Given the description of an element on the screen output the (x, y) to click on. 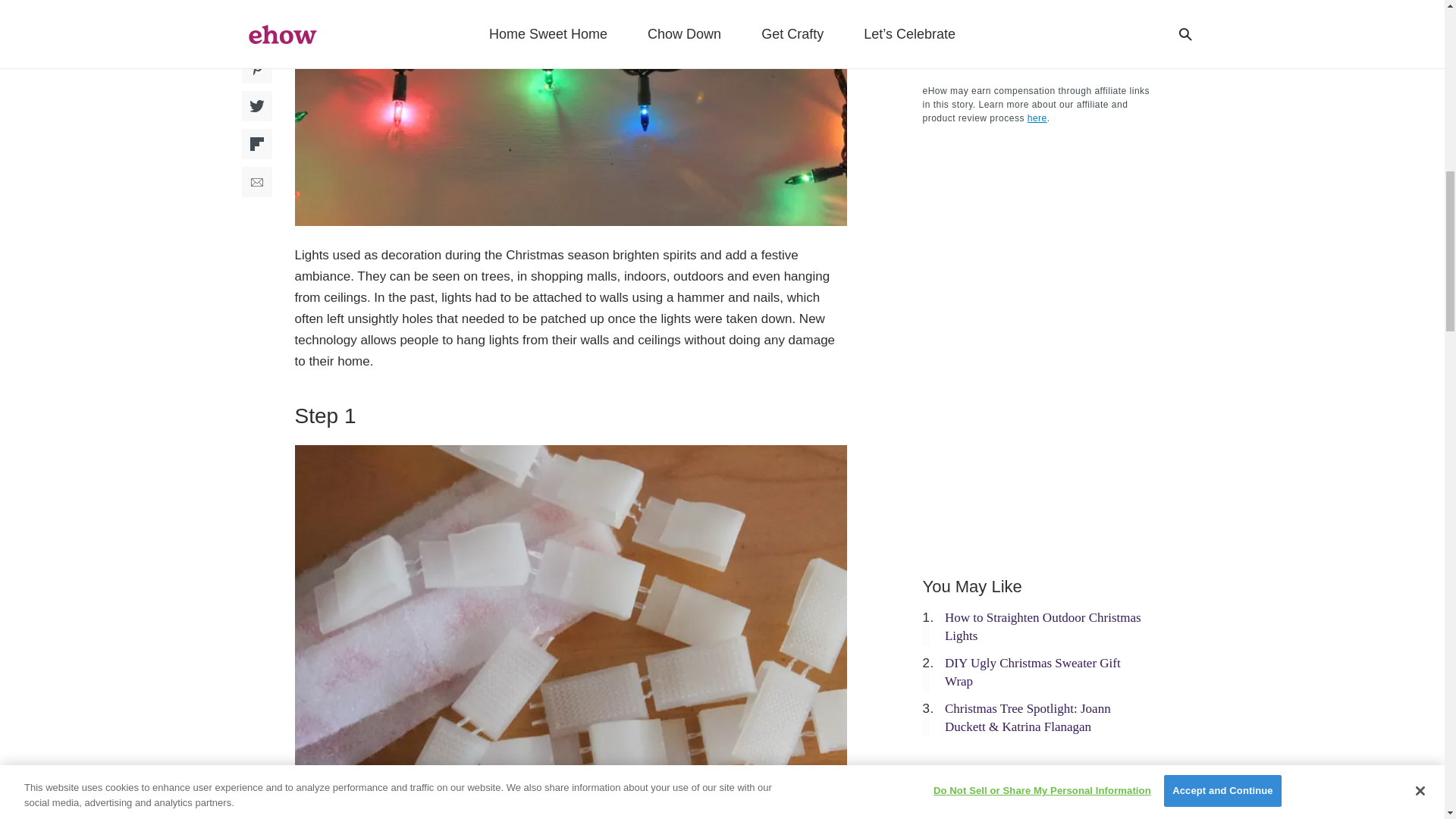
How to Straighten Outdoor Christmas Lights (1042, 626)
3rd party ad content (1035, 780)
DIY Ugly Christmas Sweater Gift Wrap (1032, 672)
